Given the description of an element on the screen output the (x, y) to click on. 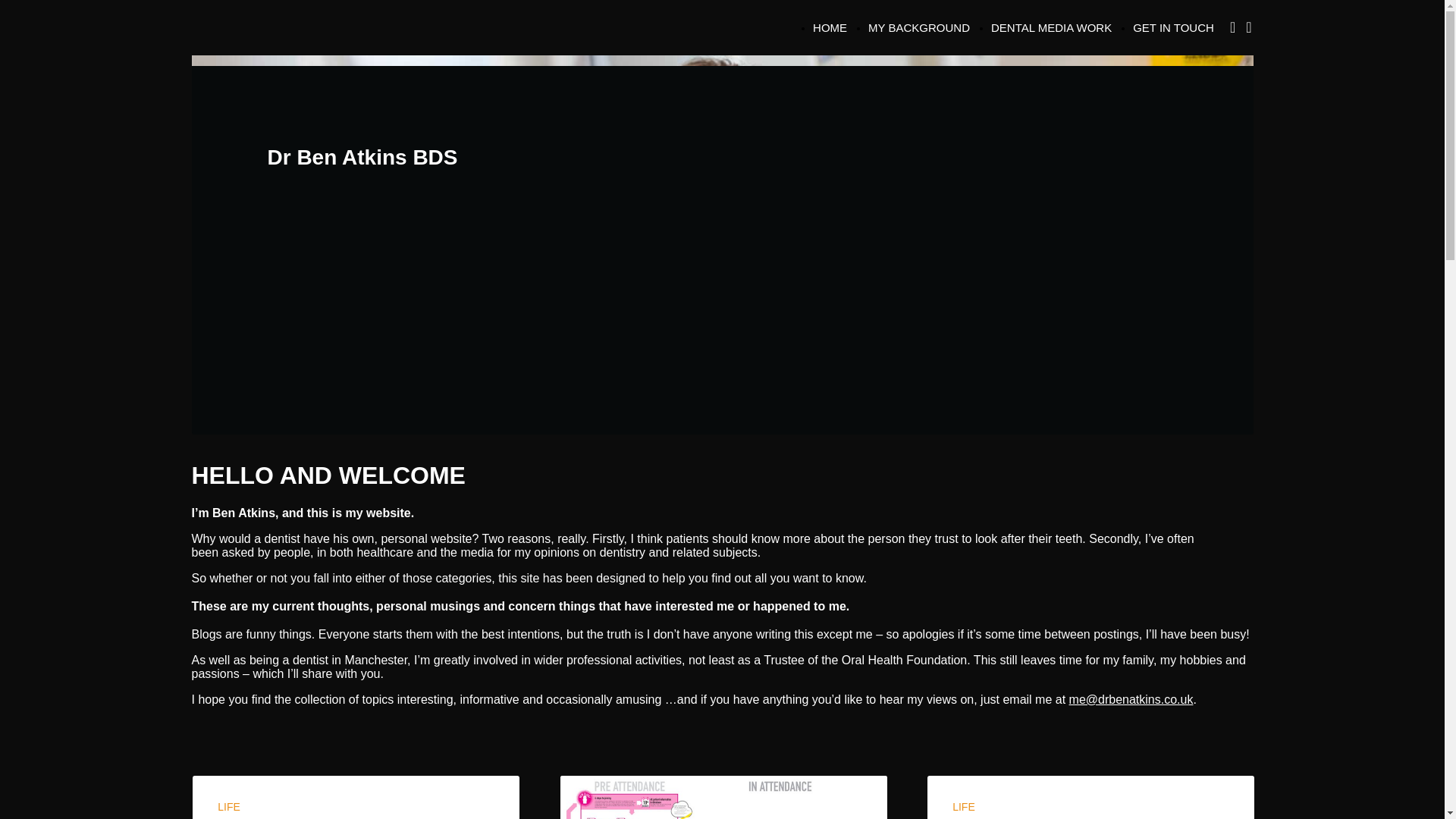
GET IN TOUCH (1173, 27)
Dr Ben Atkins BDS (721, 157)
DENTAL MEDIA WORK (1051, 27)
MY BACKGROUND (918, 27)
HOME (829, 27)
